Given the description of an element on the screen output the (x, y) to click on. 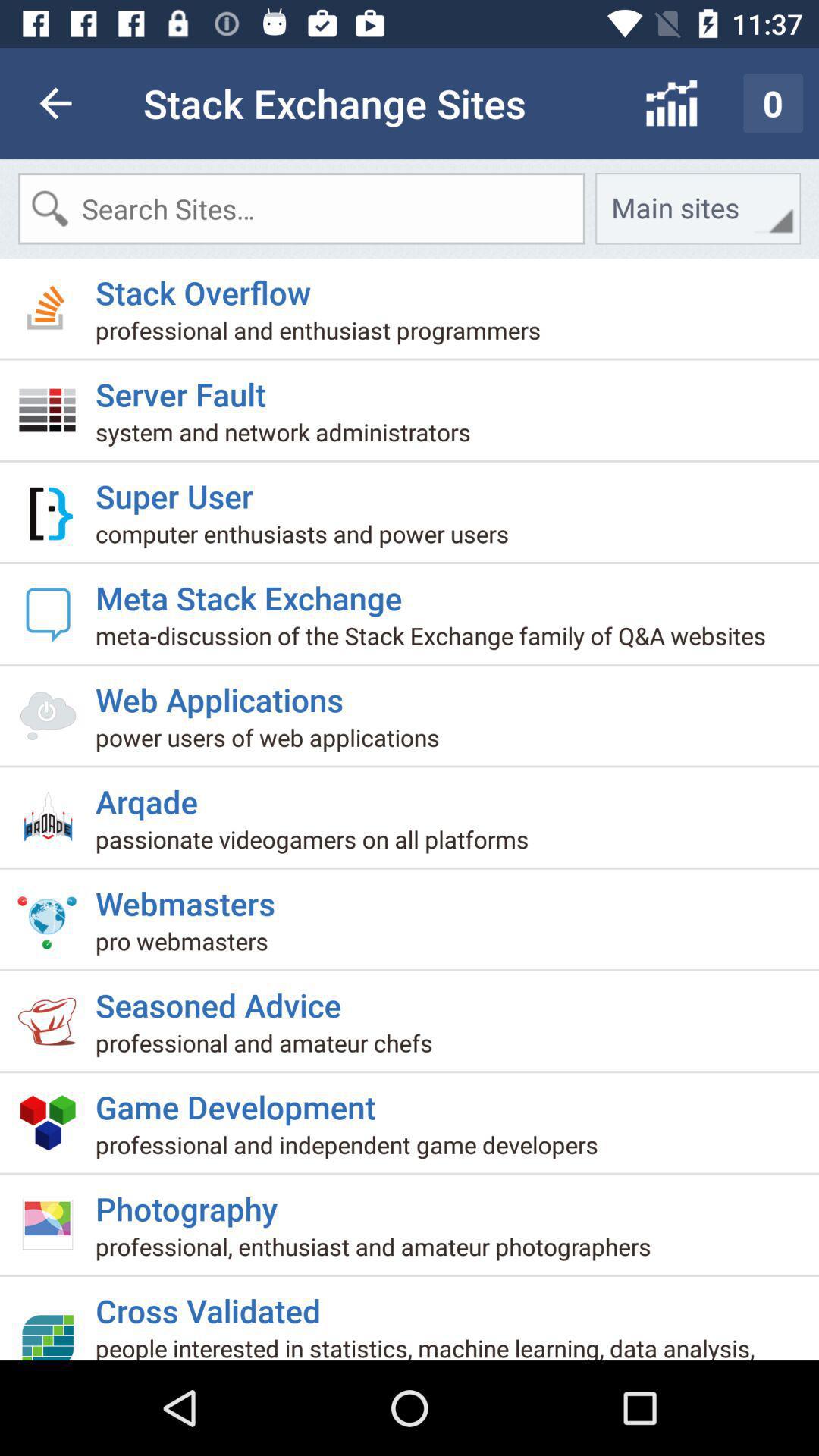
scroll until the cross validated icon (213, 1304)
